Given the description of an element on the screen output the (x, y) to click on. 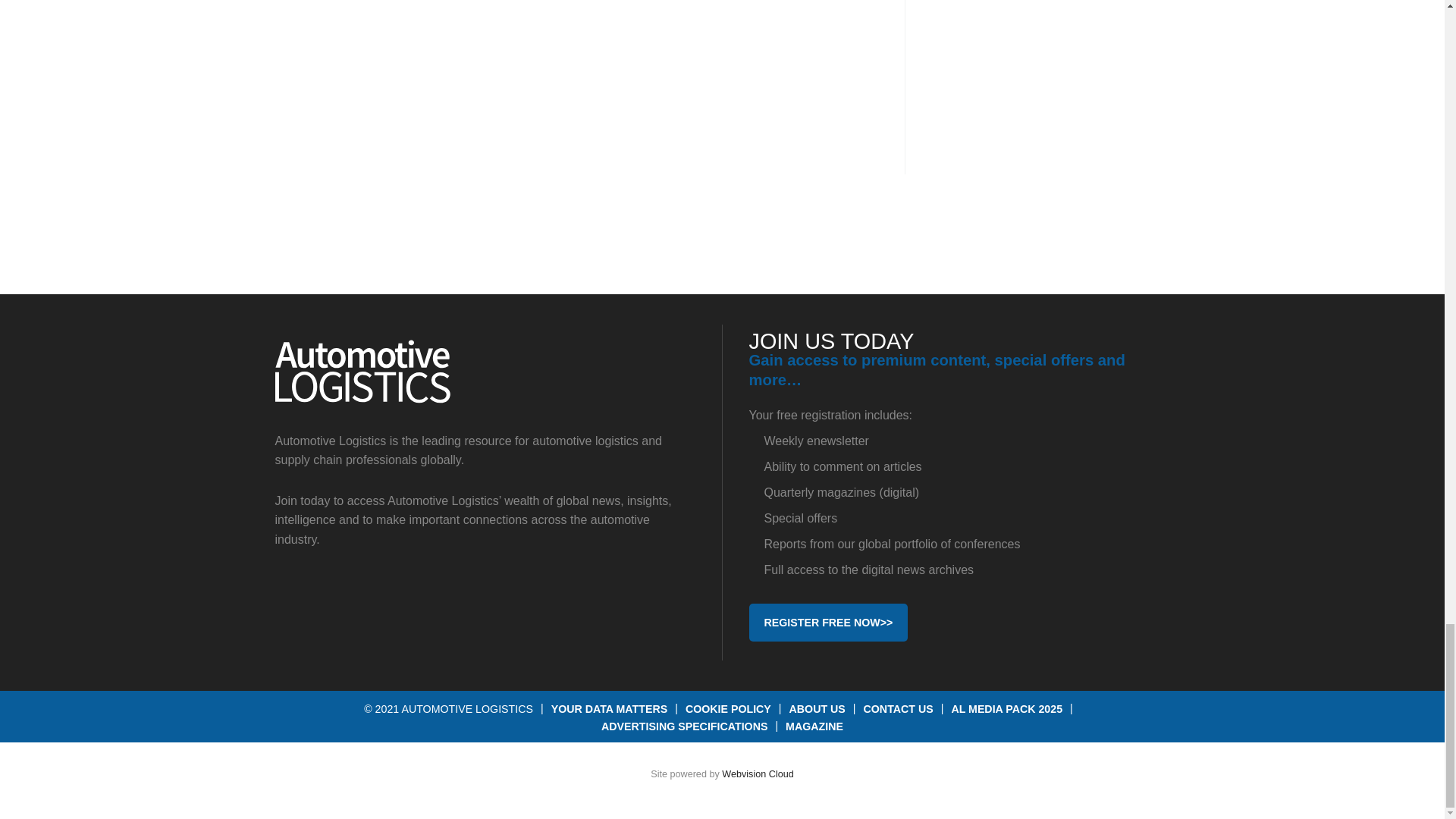
Connect with us on Youtube (451, 595)
Connect with us on Twitter (346, 595)
Connect with us on Linked In (399, 595)
Connect with us on Facebook (294, 595)
